Given the description of an element on the screen output the (x, y) to click on. 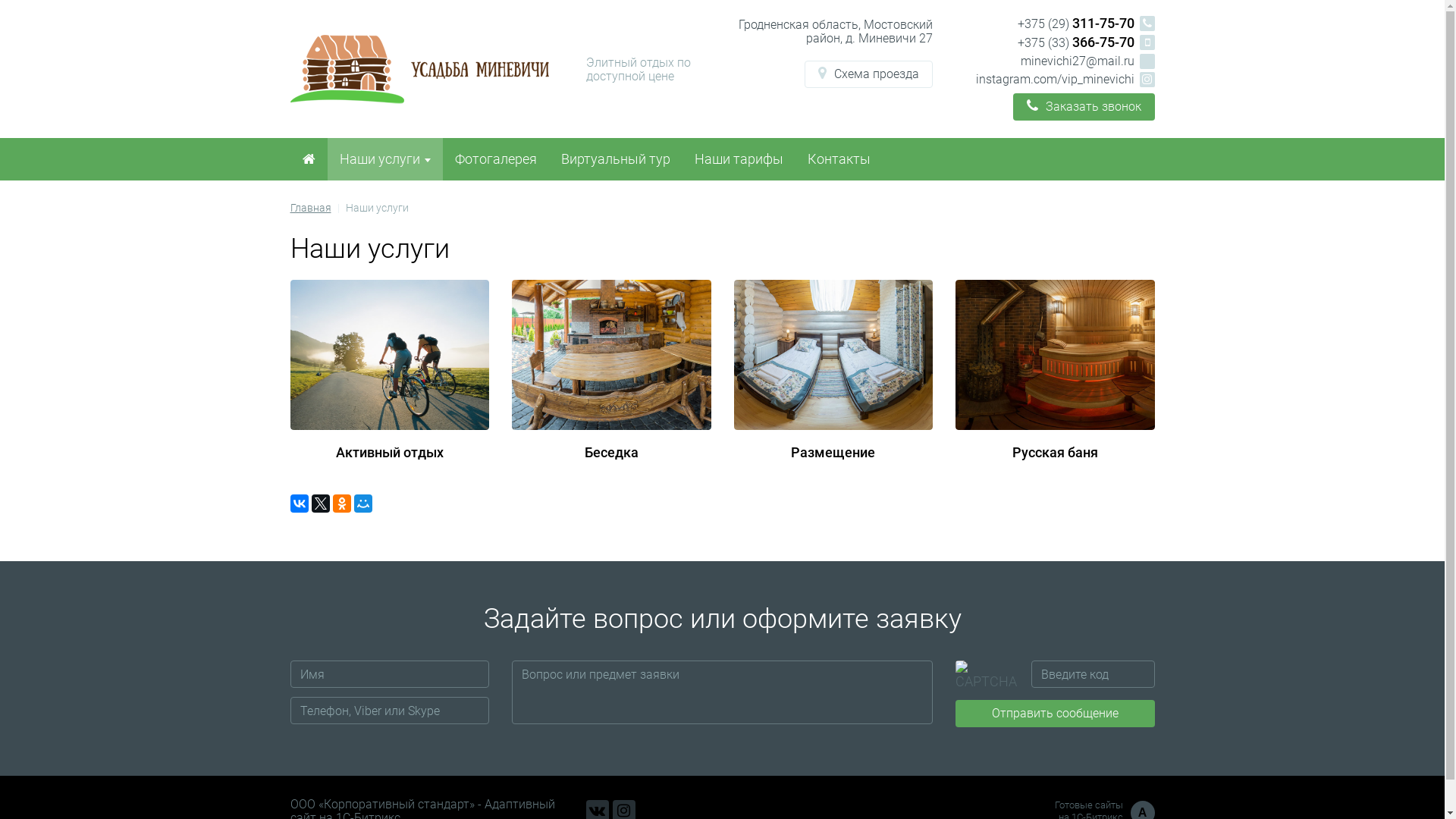
Twitter Element type: hover (319, 503)
